Given the description of an element on the screen output the (x, y) to click on. 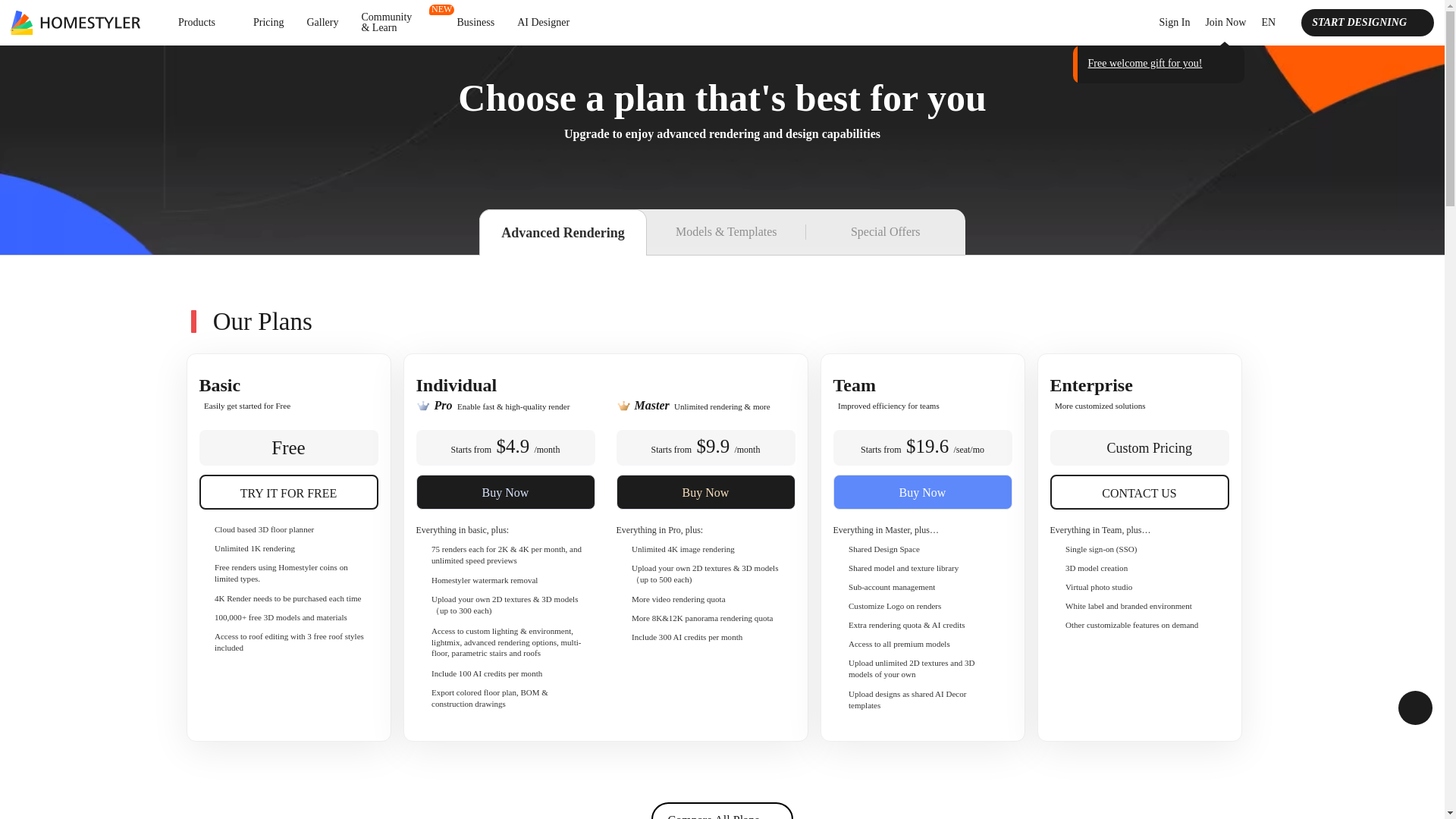
Products (204, 22)
Business (475, 22)
Gallery (322, 22)
AI Designer (542, 22)
Pricing (268, 22)
